Given the description of an element on the screen output the (x, y) to click on. 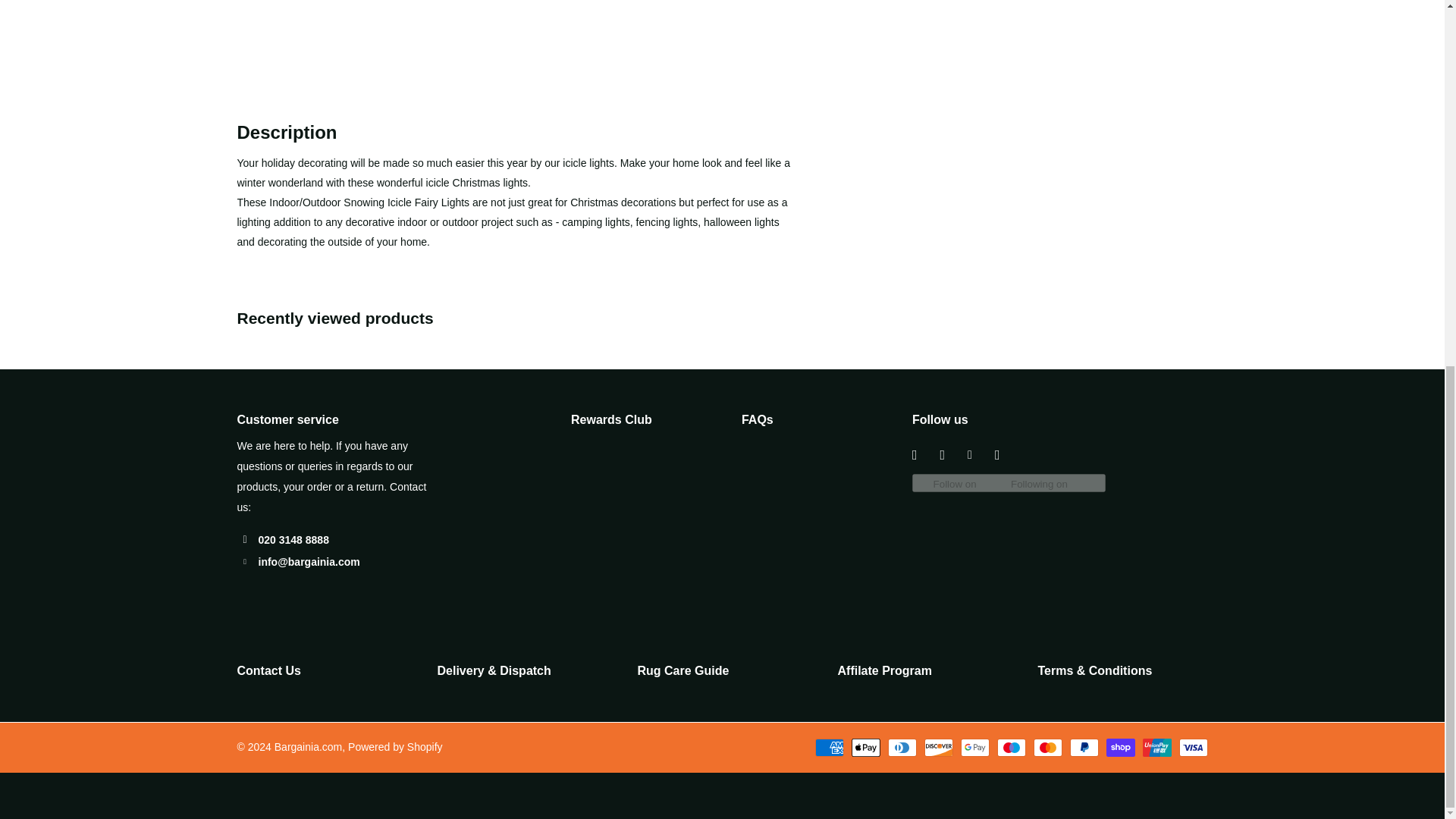
Mastercard (1046, 747)
Apple Pay (864, 747)
American Express (828, 747)
Diners Club (900, 747)
Maestro (1010, 747)
Visa (1192, 747)
Union Pay (1155, 747)
Discover (937, 747)
Shop Pay (1119, 747)
Google Pay (973, 747)
PayPal (1082, 747)
